Given the description of an element on the screen output the (x, y) to click on. 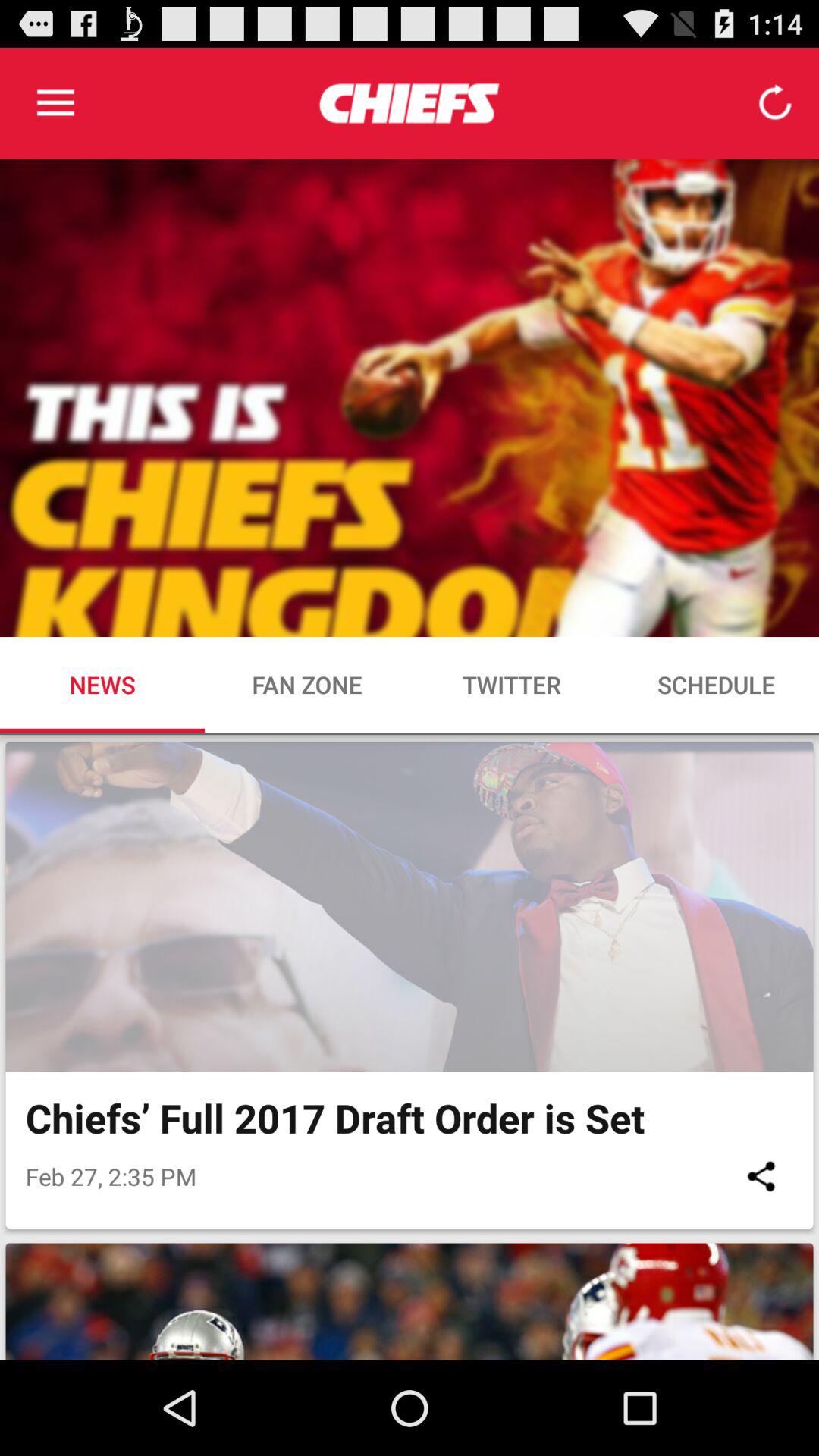
tap the icon at the bottom right corner (761, 1176)
